Given the description of an element on the screen output the (x, y) to click on. 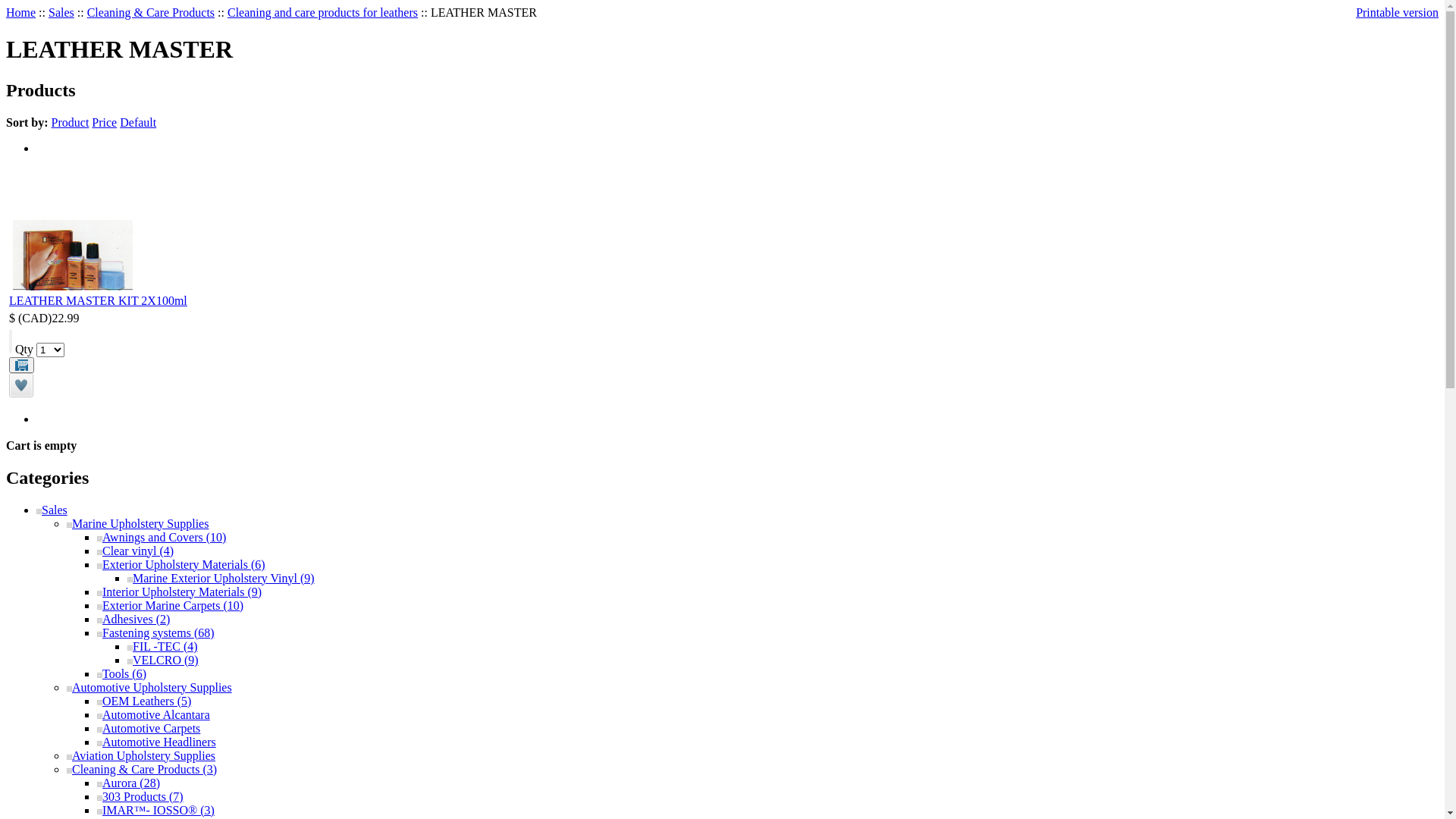
FIL -TEC (4) Element type: text (162, 646)
Cleaning & Care Products (3) Element type: text (141, 768)
Add to wish list Element type: hover (21, 392)
Exterior Marine Carpets (10) Element type: text (170, 605)
Awnings and Covers (10) Element type: text (161, 536)
Aurora (28) Element type: text (128, 782)
Automotive Carpets Element type: text (148, 727)
Home Element type: text (20, 12)
Marine Exterior Upholstery Vinyl (9) Element type: text (220, 577)
Clear vinyl (4) Element type: text (135, 550)
303 Products (7) Element type: text (140, 796)
Fastening systems (68) Element type: text (155, 632)
Automotive Headliners Element type: text (156, 741)
Product Element type: text (70, 122)
Sales Element type: text (61, 12)
Interior Upholstery Materials (9) Element type: text (179, 591)
Price Element type: text (103, 122)
Cleaning & Care Products Element type: text (150, 12)
Automotive Upholstery Supplies Element type: text (149, 686)
Marine Upholstery Supplies Element type: text (137, 523)
Adhesives (2) Element type: text (133, 618)
Exterior Upholstery Materials (6) Element type: text (181, 564)
Default Element type: text (137, 122)
LEATHER MASTER KIT 2X100ml Element type: hover (72, 254)
Tools (6) Element type: text (121, 673)
Aviation Upholstery Supplies Element type: text (140, 755)
LEATHER MASTER KIT 2X100ml Element type: text (98, 300)
OEM Leathers (5) Element type: text (144, 700)
Automotive Alcantara Element type: text (153, 714)
Sales Element type: text (51, 509)
VELCRO (9) Element type: text (162, 659)
Buy Now Element type: hover (21, 365)
Cleaning and care products for leathers Element type: text (322, 12)
Printable version Element type: text (1396, 12)
